Given the description of an element on the screen output the (x, y) to click on. 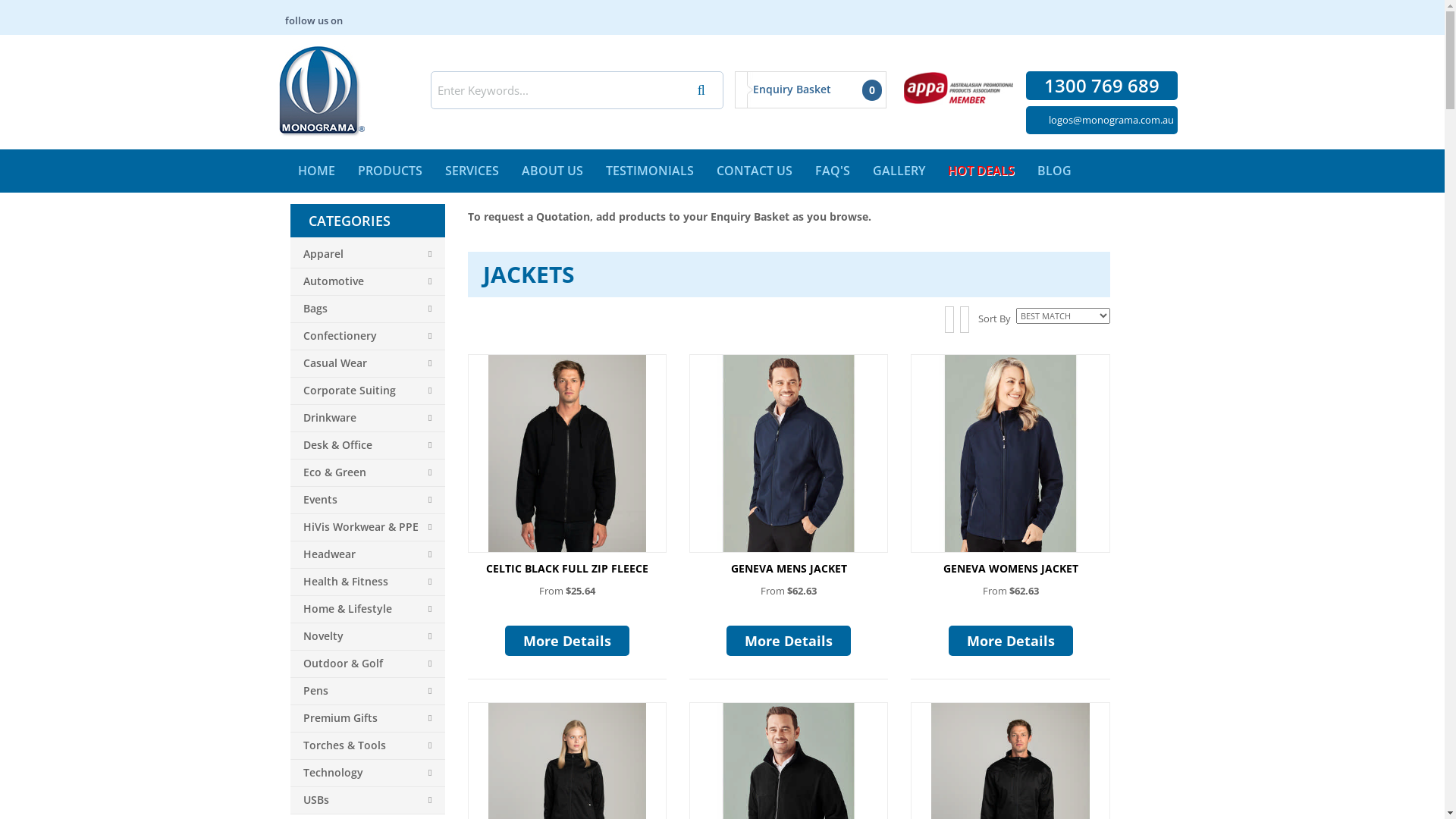
More Details Element type: text (567, 640)
GALLERY Element type: text (898, 170)
Geneva Mens Jacket (J307M_CARE) Element type: hover (788, 453)
ABOUT US Element type: text (551, 170)
1300 769 689 Element type: text (1100, 88)
TESTIMONIALS Element type: text (649, 170)
GENEVA WOMENS JACKET Element type: text (1010, 568)
CONTACT US Element type: text (754, 170)
More Details Element type: text (1010, 640)
HOT DEALS Element type: text (980, 170)
BLOG Element type: text (1053, 170)
CELTIC BLACK FULL ZIP FLEECE Element type: text (567, 568)
Grid Element type: hover (948, 319)
Promotional Companies Melbourne Element type: hover (321, 91)
List Element type: hover (964, 319)
Enquiry Basket Element type: text (785, 88)
More Details Element type: text (788, 640)
HOME Element type: text (316, 170)
GENEVA MENS JACKET Element type: text (789, 568)
SERVICES Element type: text (471, 170)
FAQ'S Element type: text (832, 170)
Celtic Black Full Zip Fleece (OCH200_OC) Element type: hover (566, 453)
PRODUCTS Element type: text (389, 170)
Geneva Womens Jacket (J307L_CARE) Element type: hover (1009, 453)
